Given the description of an element on the screen output the (x, y) to click on. 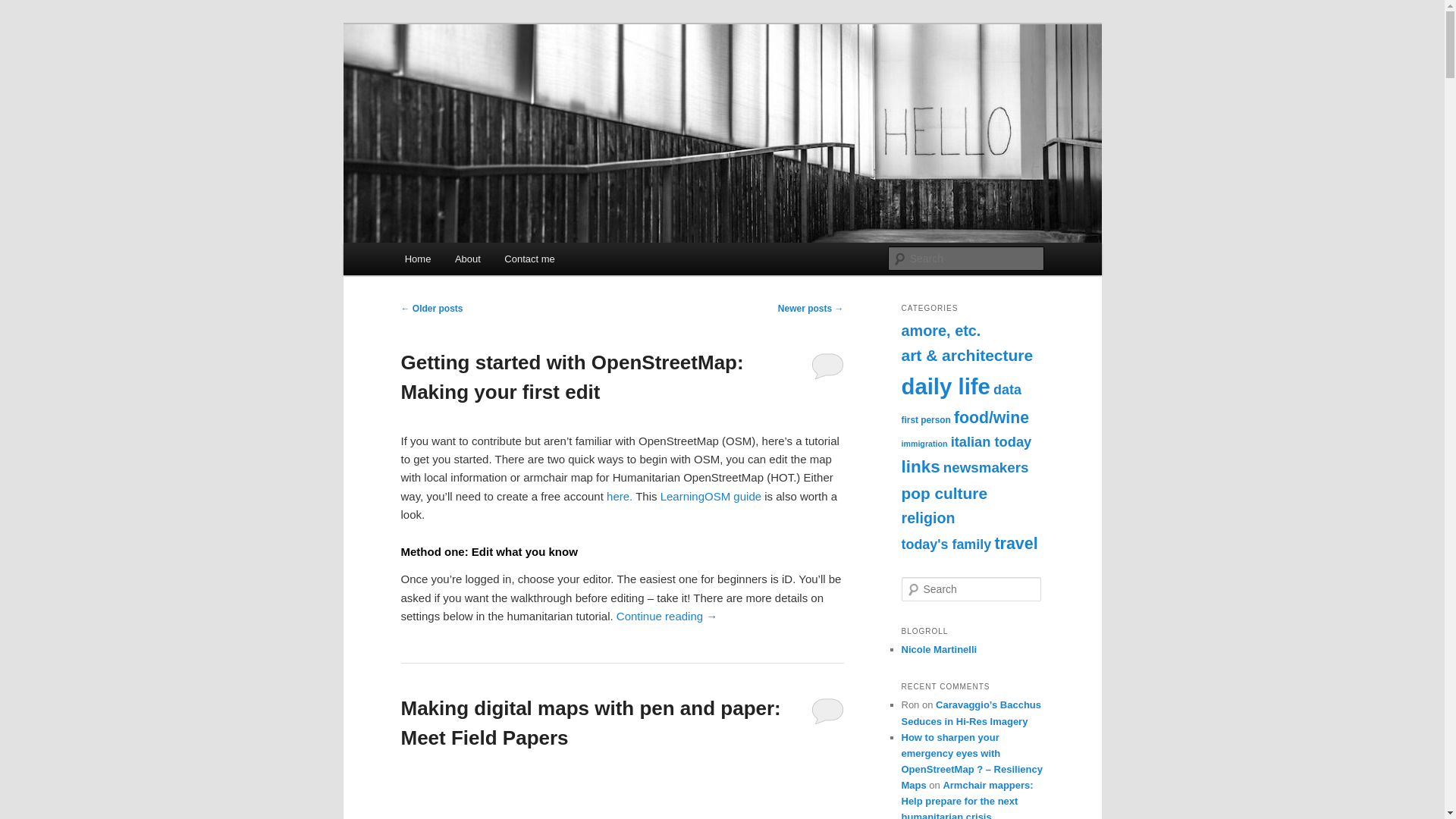
here. (620, 495)
Contact me (530, 258)
Home (417, 258)
Making digital maps with pen and paper: Meet Field Papers (590, 722)
Getting started with OpenStreetMap: Making your first edit (571, 377)
About (467, 258)
Search (24, 8)
LearningOSM guide (711, 495)
Zoomata (447, 78)
